Given the description of an element on the screen output the (x, y) to click on. 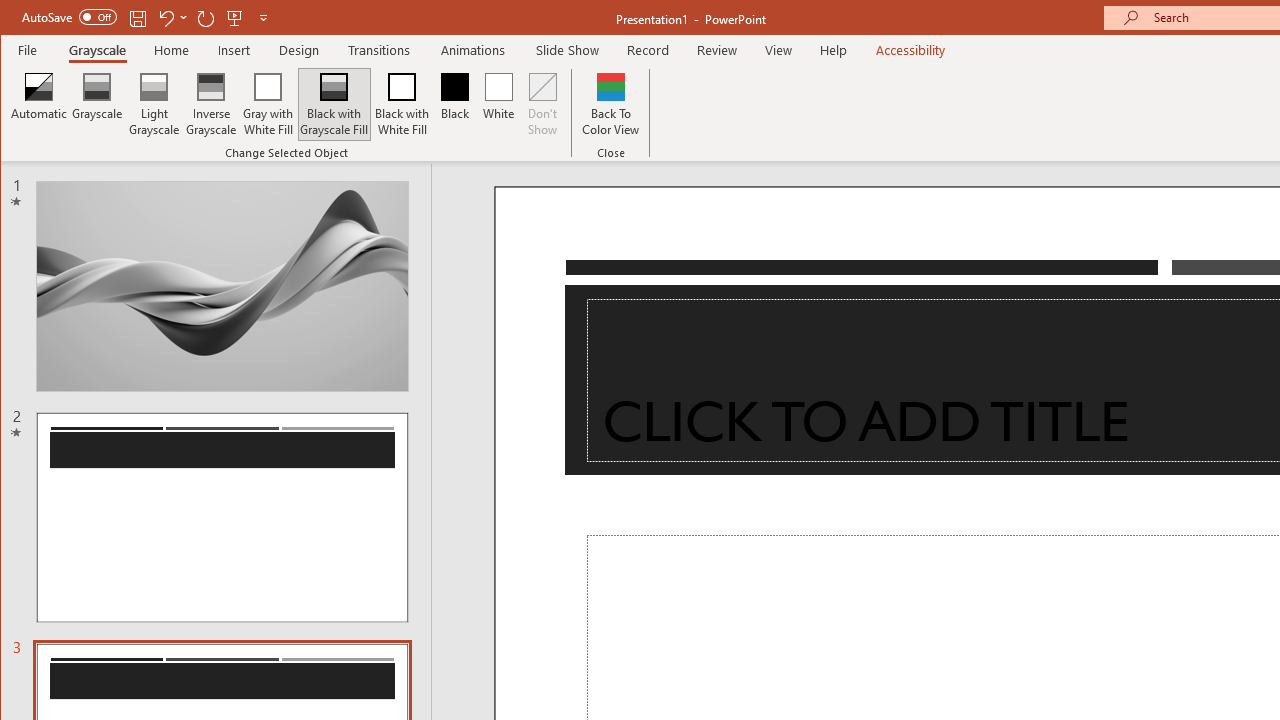
Don't Show (543, 104)
Grayscale (97, 50)
Gray with White Fill (267, 104)
White (498, 104)
Automatic (39, 104)
Inverse Grayscale (211, 104)
